Given the description of an element on the screen output the (x, y) to click on. 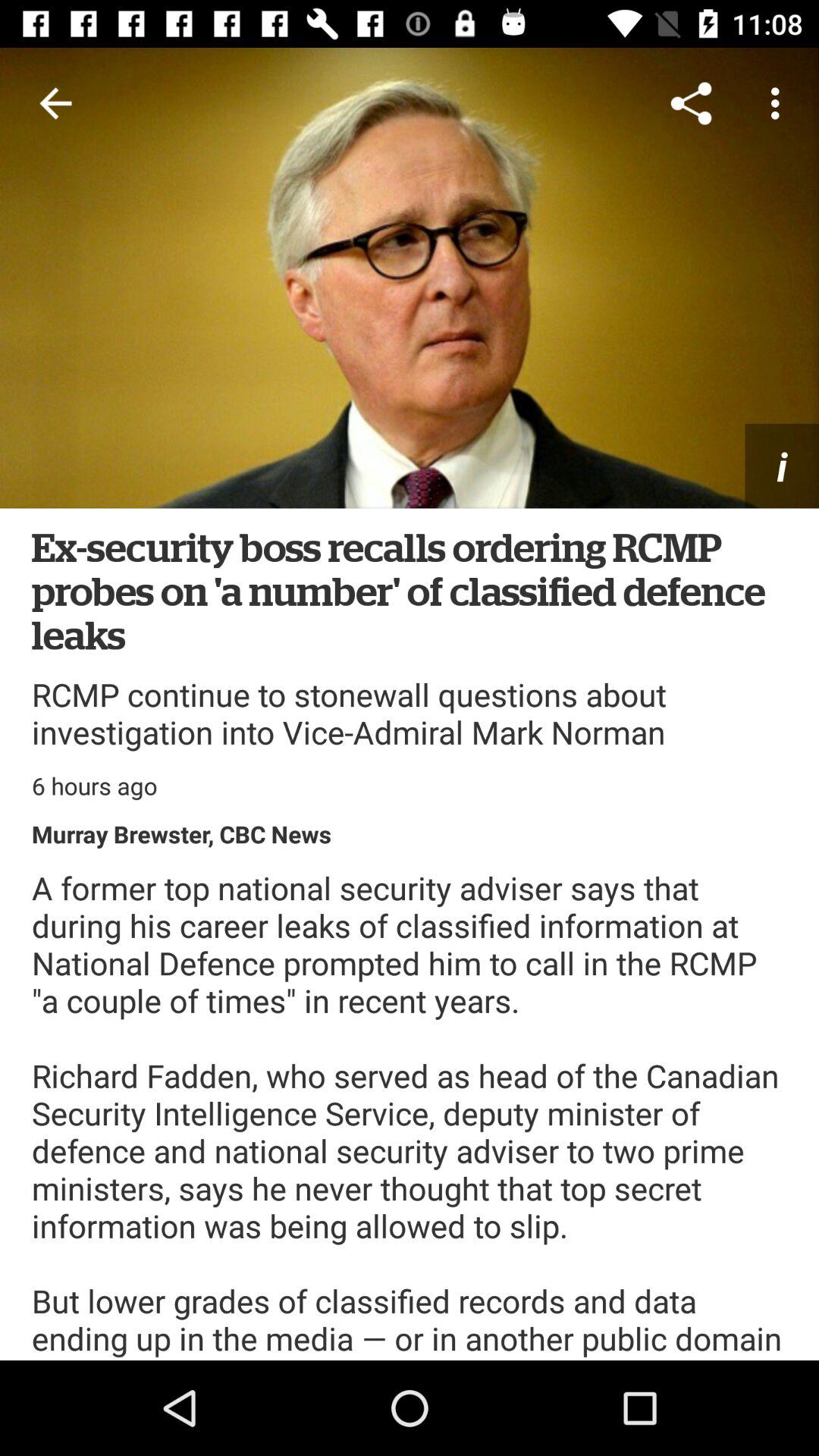
tap the 6 hours ago (94, 785)
